Given the description of an element on the screen output the (x, y) to click on. 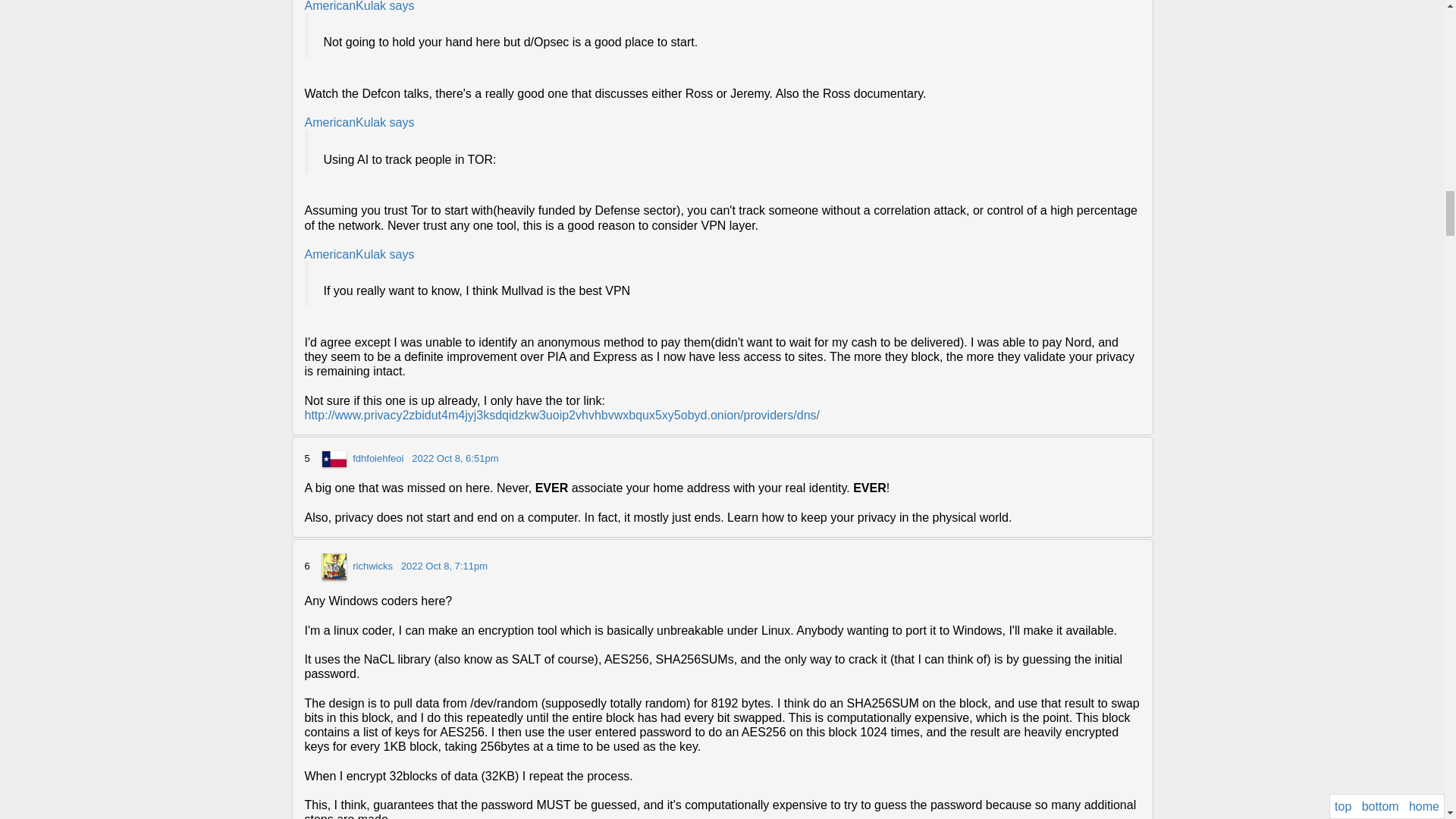
permalink to this comment (444, 565)
permalink to this comment (454, 458)
